Given the description of an element on the screen output the (x, y) to click on. 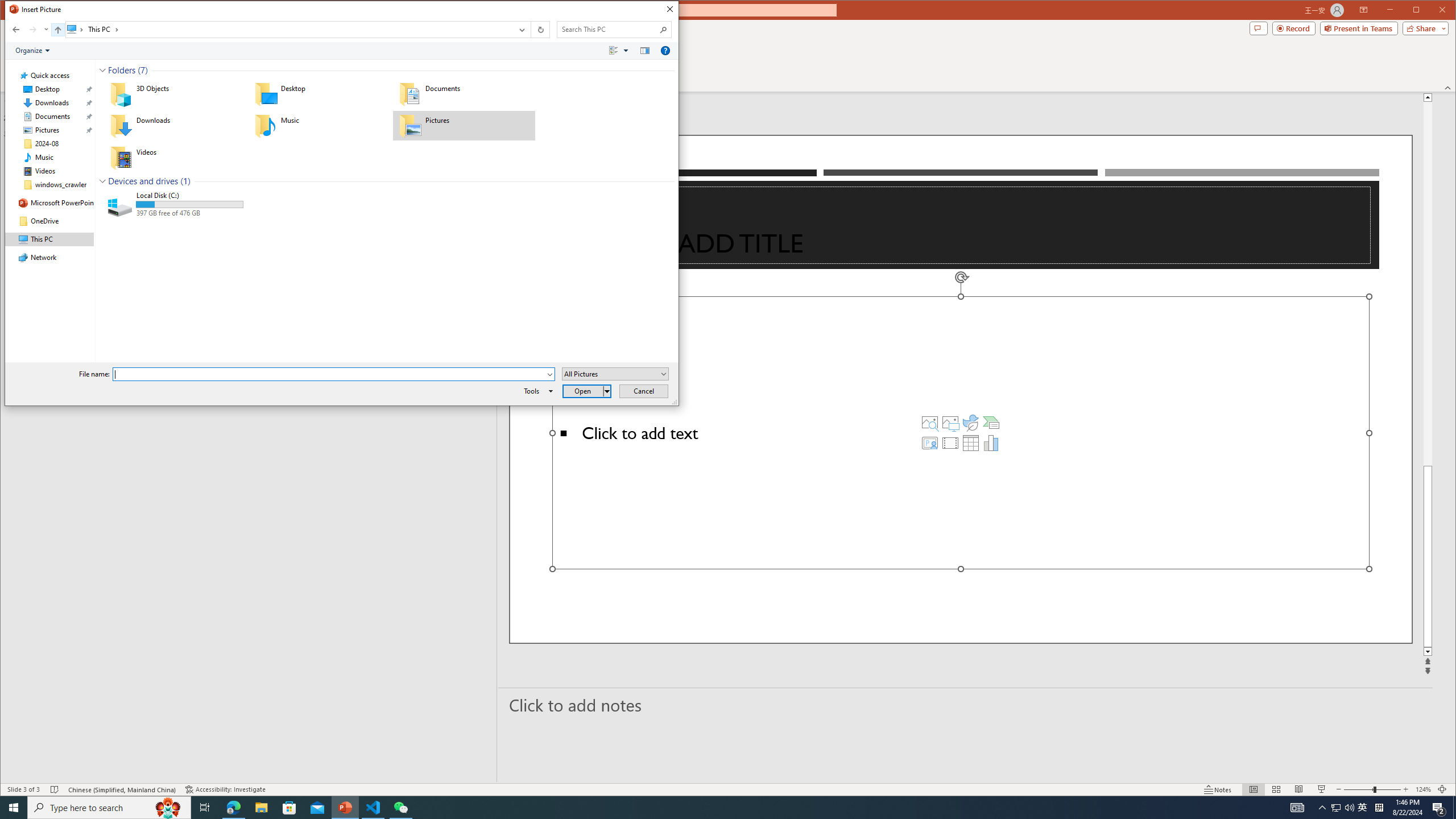
3D Objects (174, 93)
Command Module (341, 50)
File name: (333, 373)
Pictures (949, 422)
Music (319, 125)
Insert Video (949, 443)
Files of type: (615, 373)
Address: This PC (288, 29)
All locations (75, 29)
Documents (464, 93)
